Given the description of an element on the screen output the (x, y) to click on. 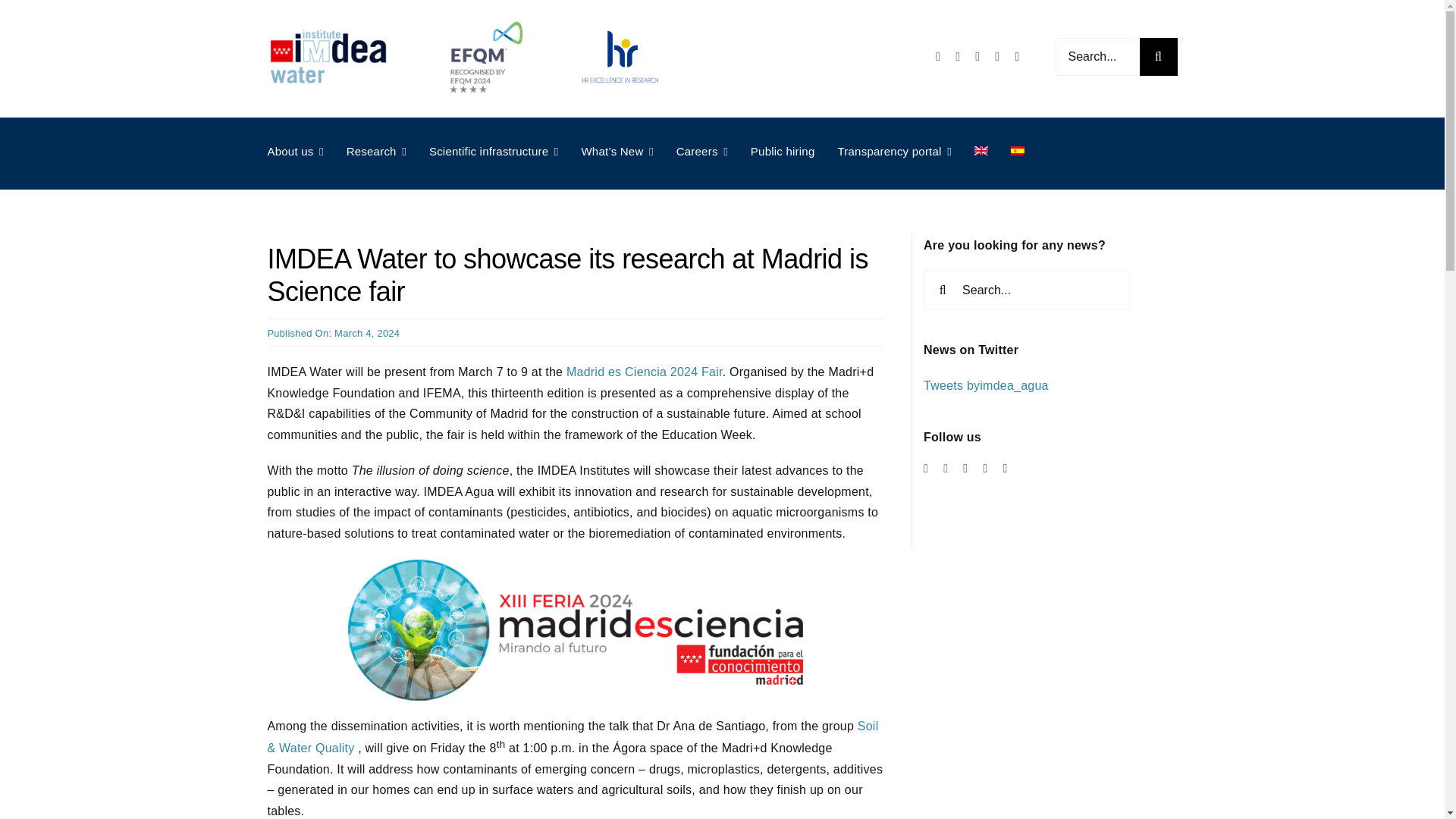
Scientific infrastructure (494, 151)
About us (294, 151)
Research (376, 151)
